Given the description of an element on the screen output the (x, y) to click on. 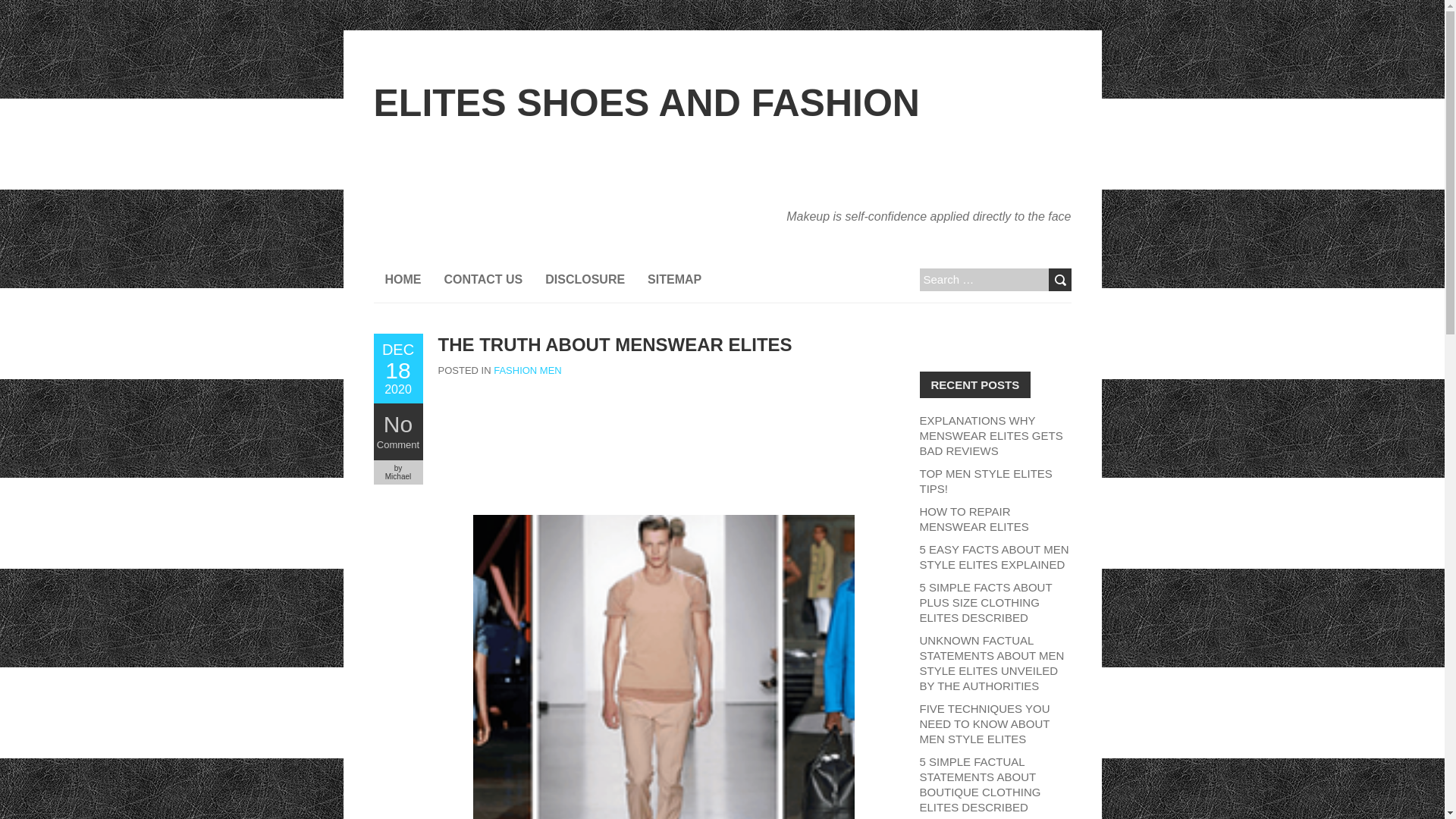
EXPLANATIONS WHY MENSWEAR ELITES GETS BAD REVIEWS (990, 435)
TOP MEN STYLE ELITES TIPS! (984, 480)
HOW TO REPAIR MENSWEAR ELITES (972, 519)
The Truth About menswear Elites (615, 344)
FASHION MEN (527, 369)
Search (1059, 279)
FIVE TECHNIQUES YOU NEED TO KNOW ABOUT MEN STYLE ELITES (983, 723)
Elites Shoes and Fashion (645, 102)
DISCLOSURE (585, 279)
No (397, 424)
